Given the description of an element on the screen output the (x, y) to click on. 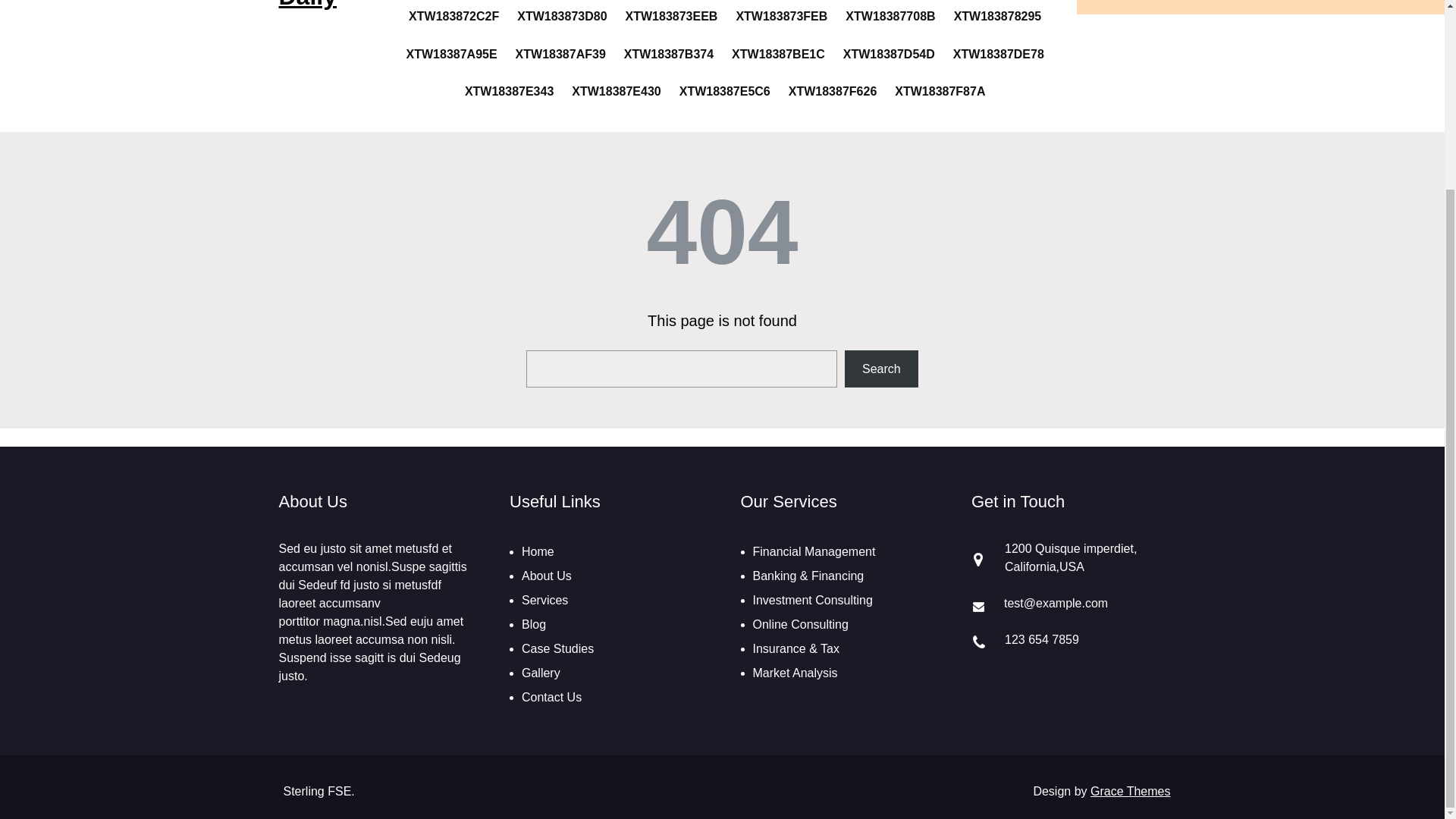
XTW183873D80 (561, 16)
USA Express Daily (326, 4)
XTW183872C2F (454, 16)
